Given the description of an element on the screen output the (x, y) to click on. 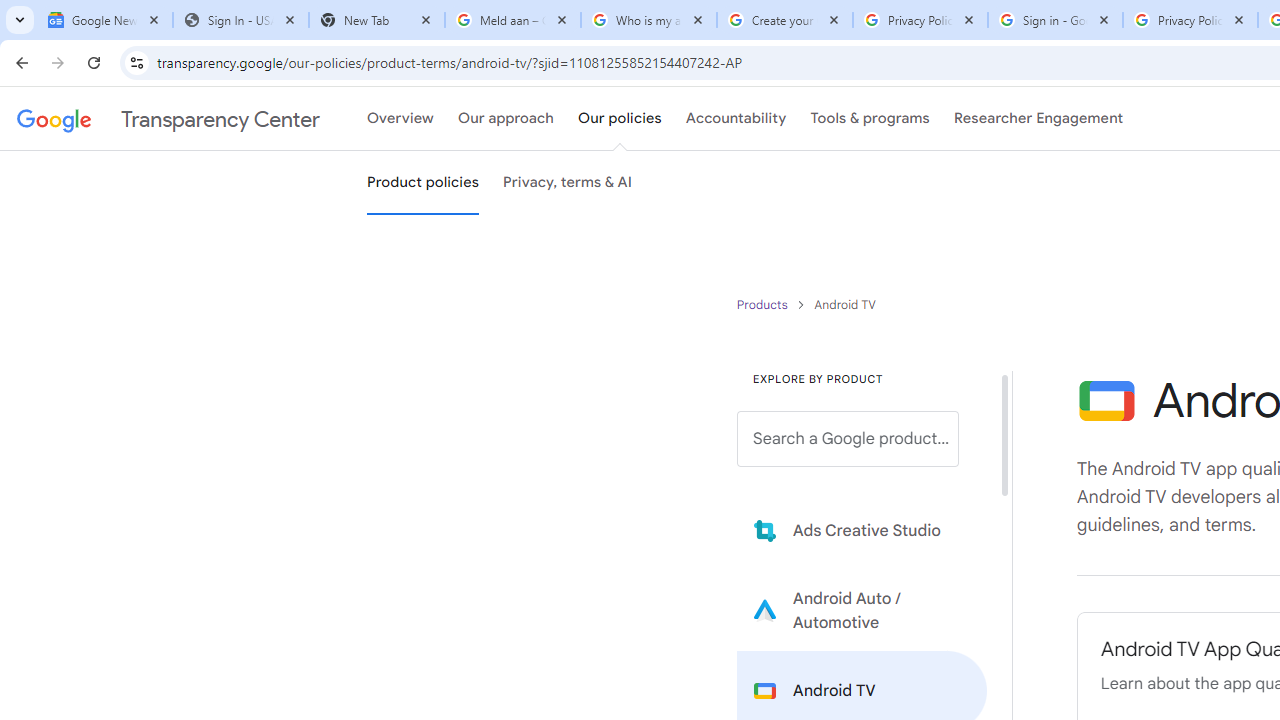
Search a Google product from below list. (847, 439)
Privacy, terms & AI (568, 183)
Sign In - USA TODAY (240, 20)
Our approach (506, 119)
Who is my administrator? - Google Account Help (648, 20)
Accountability (735, 119)
